Given the description of an element on the screen output the (x, y) to click on. 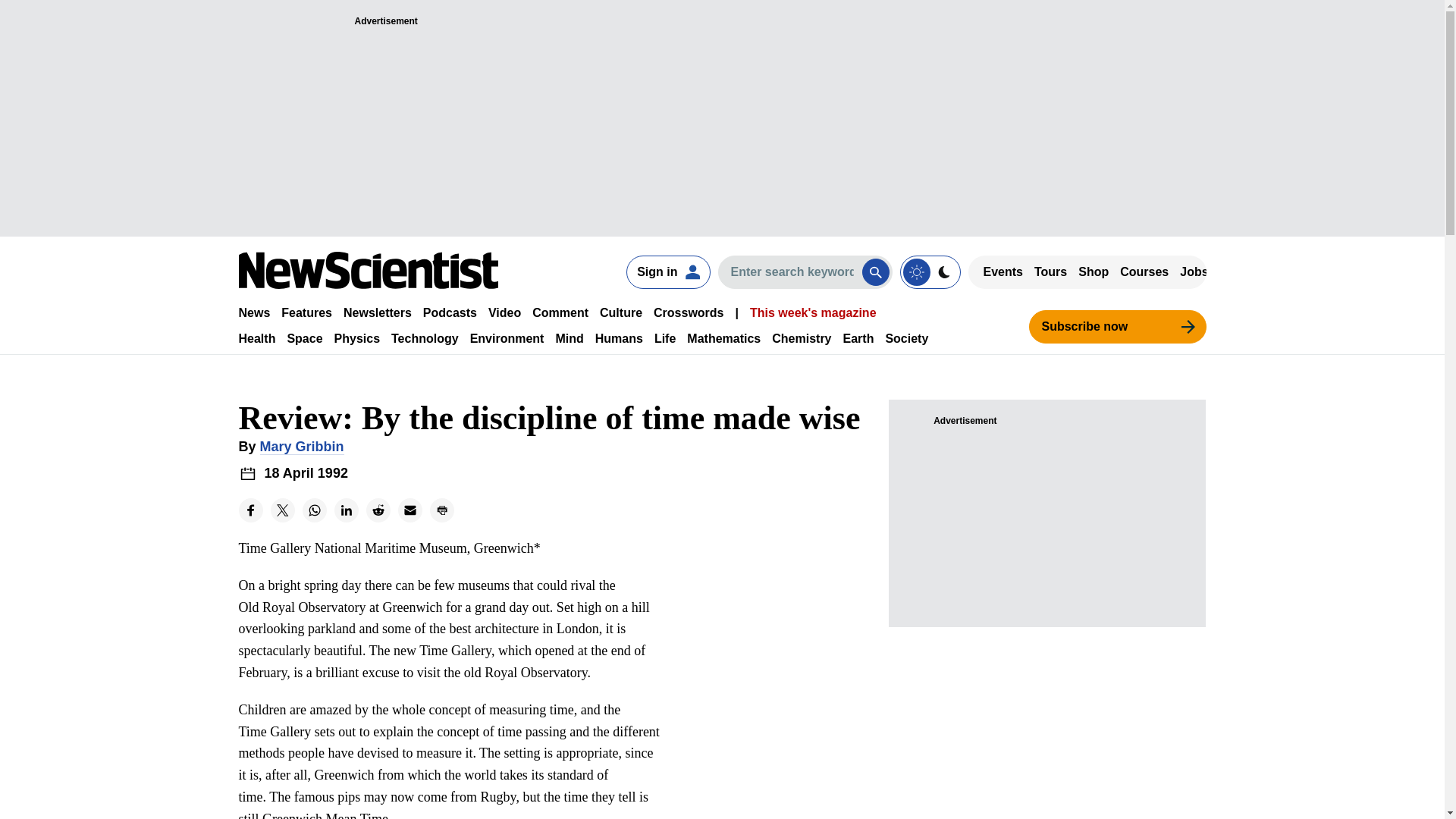
Earth (859, 338)
Environment (507, 338)
Chemistry (801, 338)
Crosswords (688, 313)
Podcasts (450, 313)
Calendar icon (247, 473)
Society (906, 338)
Culture (620, 313)
Jobs (1193, 272)
Comment (560, 313)
Subscribe now (1116, 326)
News (253, 313)
Mind (568, 338)
Link to the homepage (367, 270)
Newsletters (377, 313)
